Given the description of an element on the screen output the (x, y) to click on. 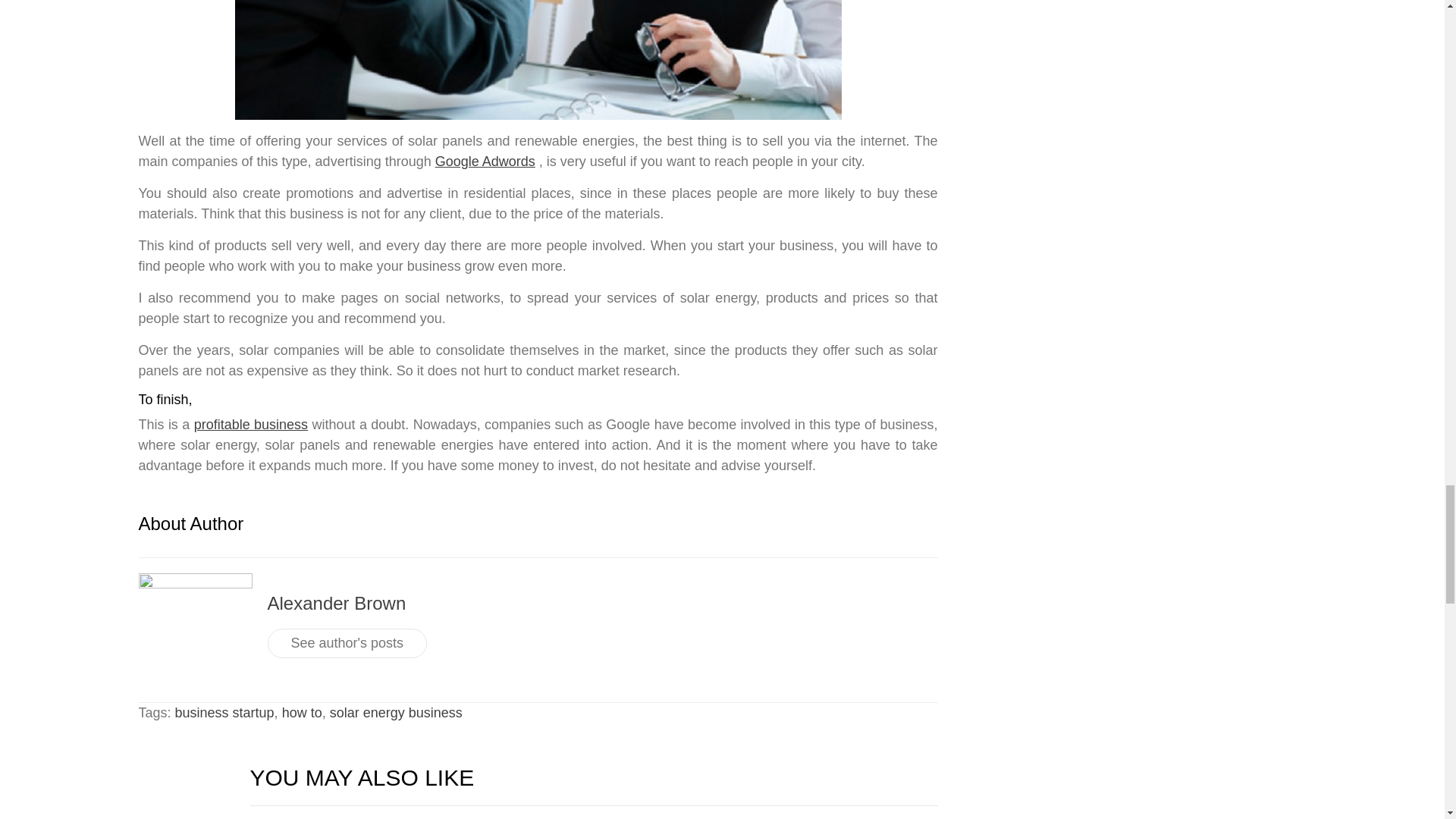
offer to customer (537, 59)
